Given the description of an element on the screen output the (x, y) to click on. 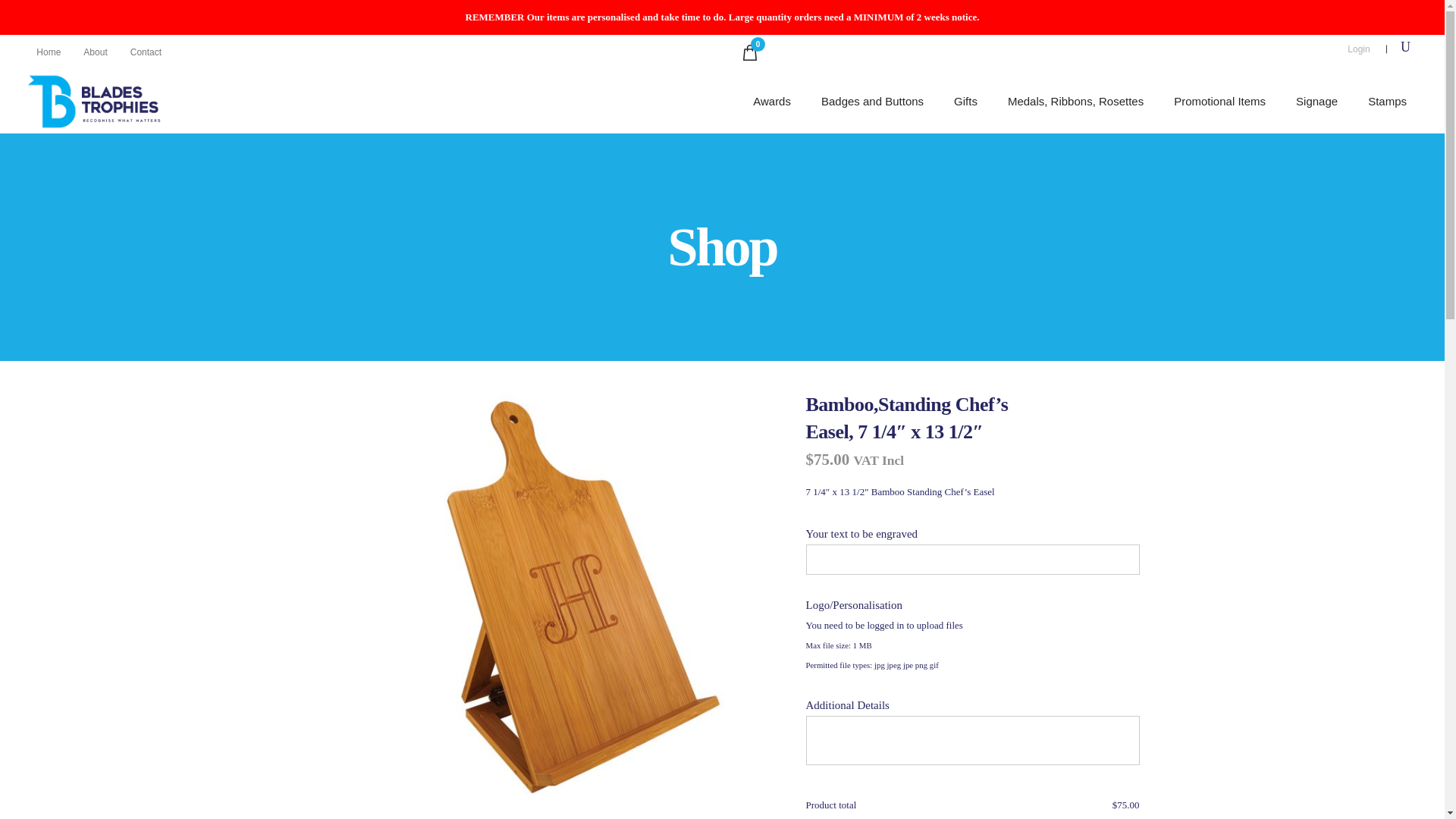
Awards (772, 100)
Login (1358, 48)
Contact (145, 51)
About (95, 51)
Home (48, 51)
Badges and Buttons (872, 100)
